Given the description of an element on the screen output the (x, y) to click on. 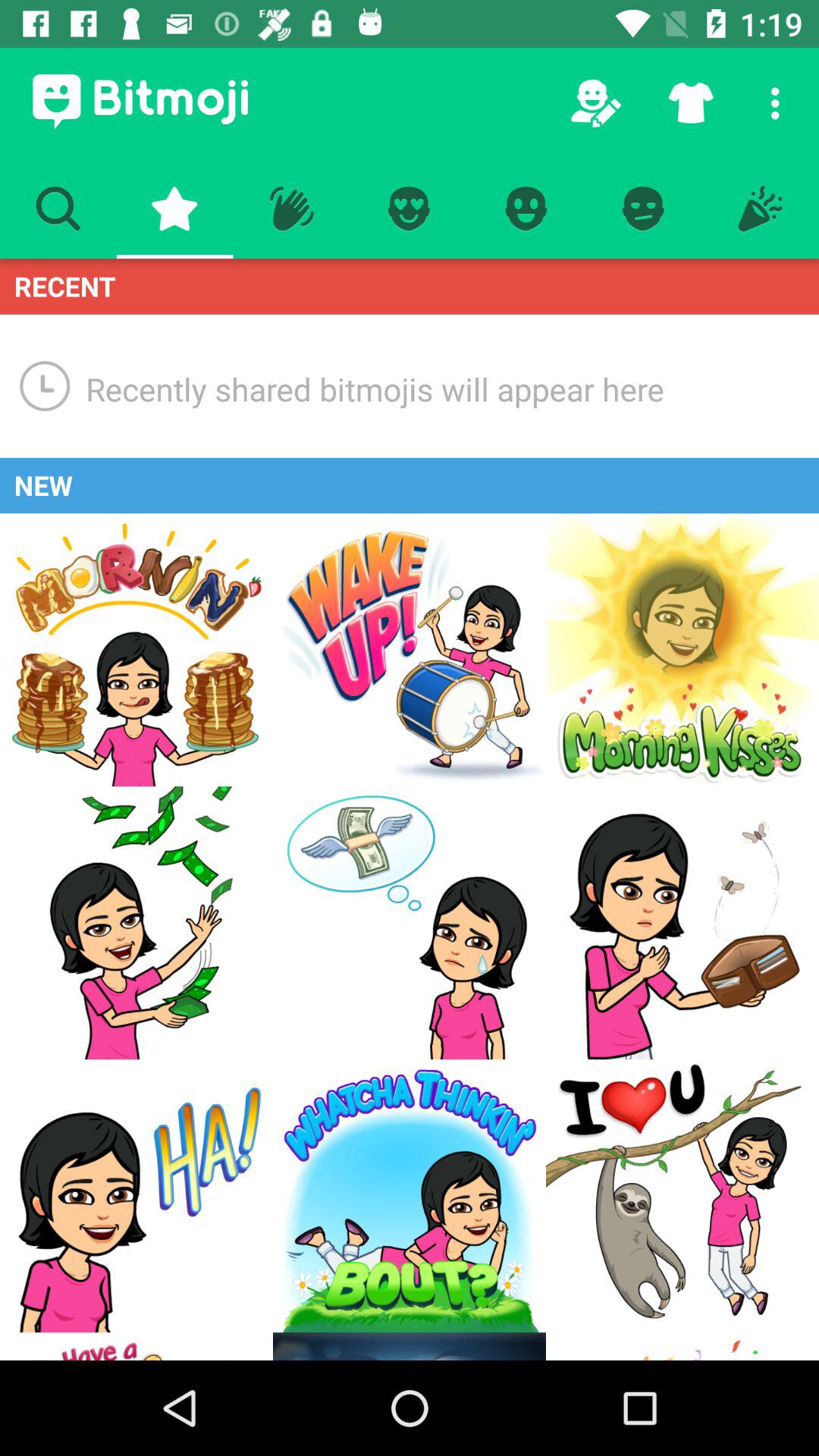
switch to add emoji (682, 1195)
